Given the description of an element on the screen output the (x, y) to click on. 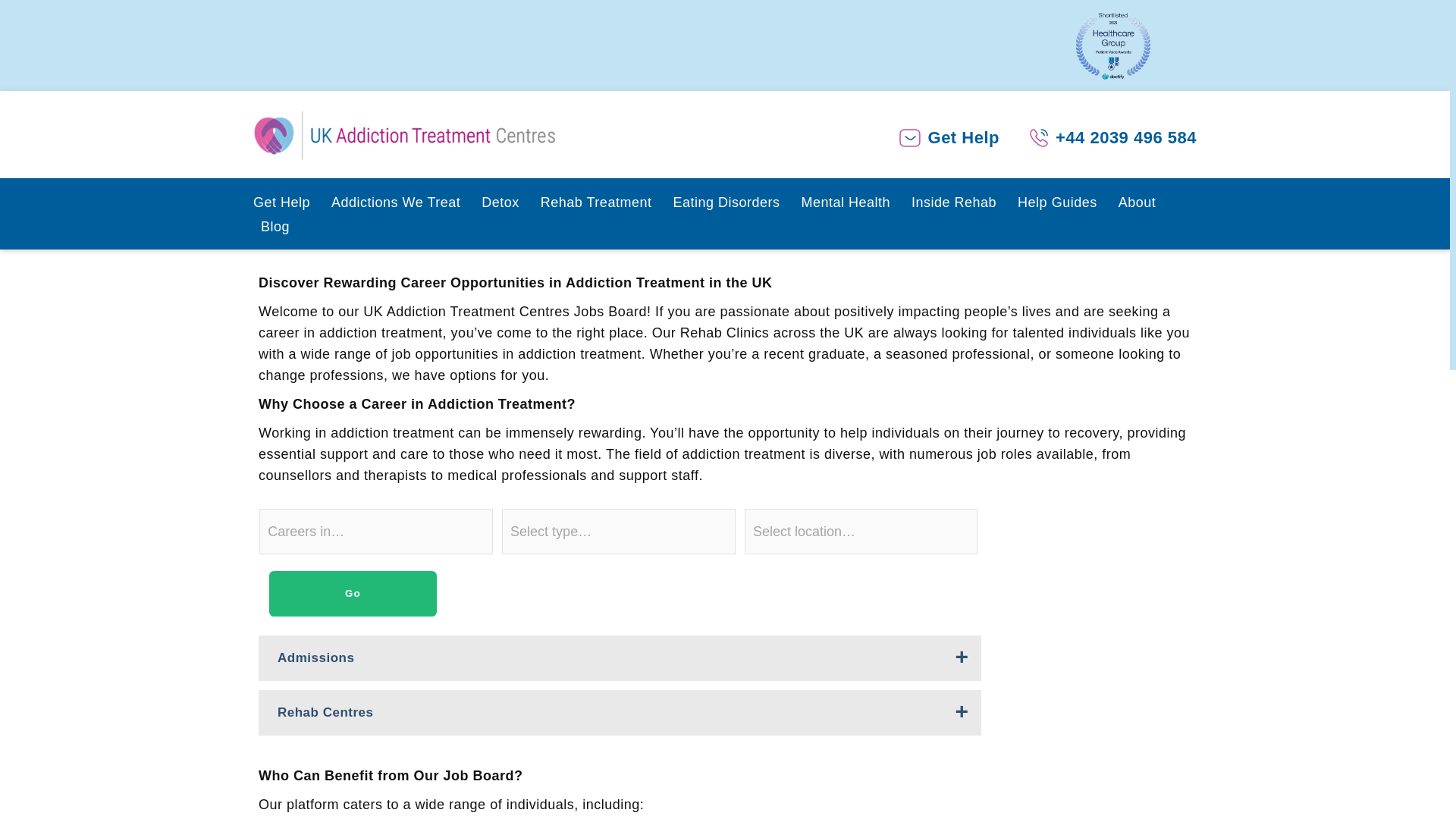
Go (352, 593)
Get Help (284, 205)
Addictions We Treat (398, 205)
Get Help (963, 137)
